Given the description of an element on the screen output the (x, y) to click on. 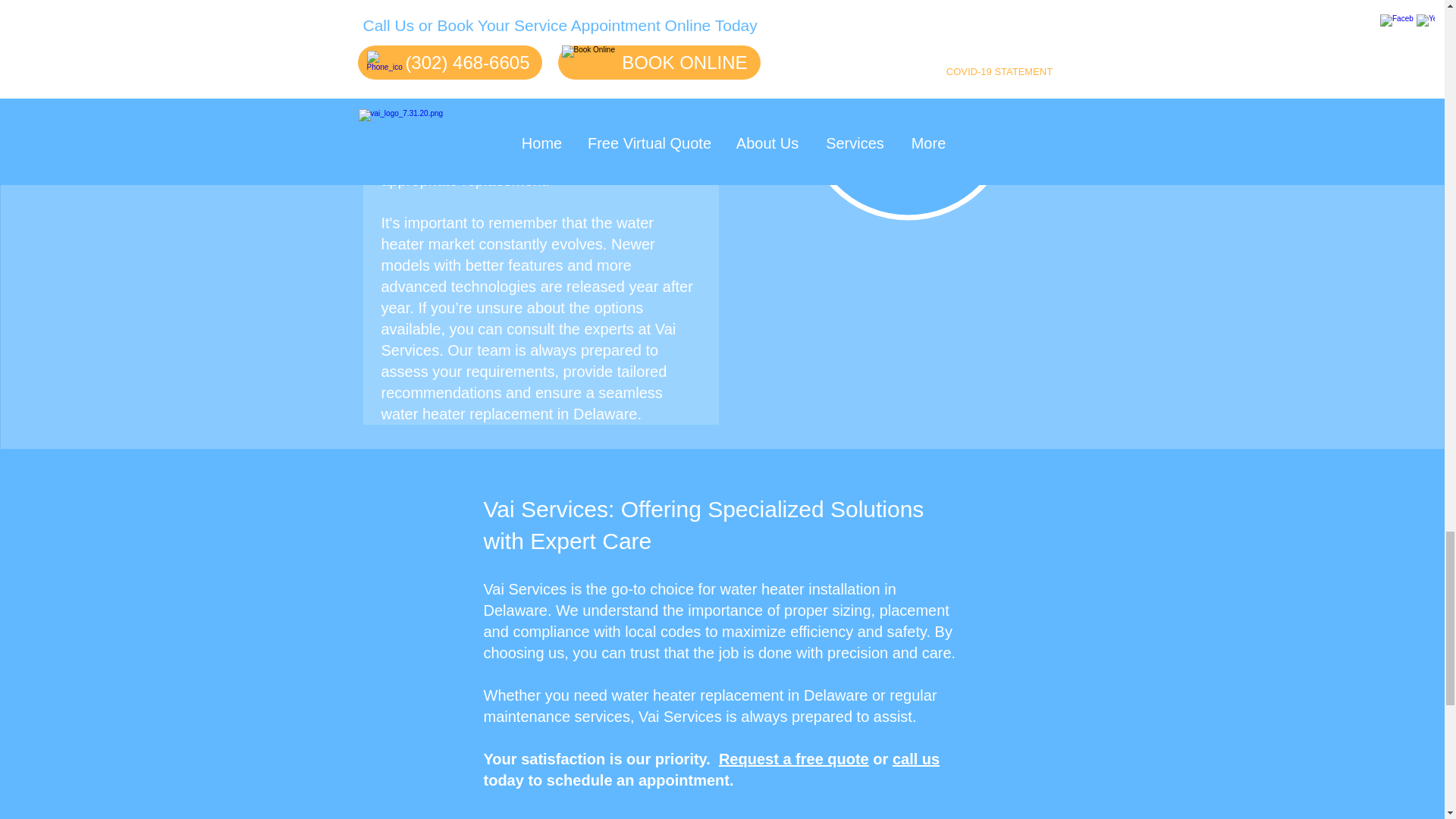
ll us (923, 759)
Request a free quote (794, 759)
ca (900, 759)
